Given the description of an element on the screen output the (x, y) to click on. 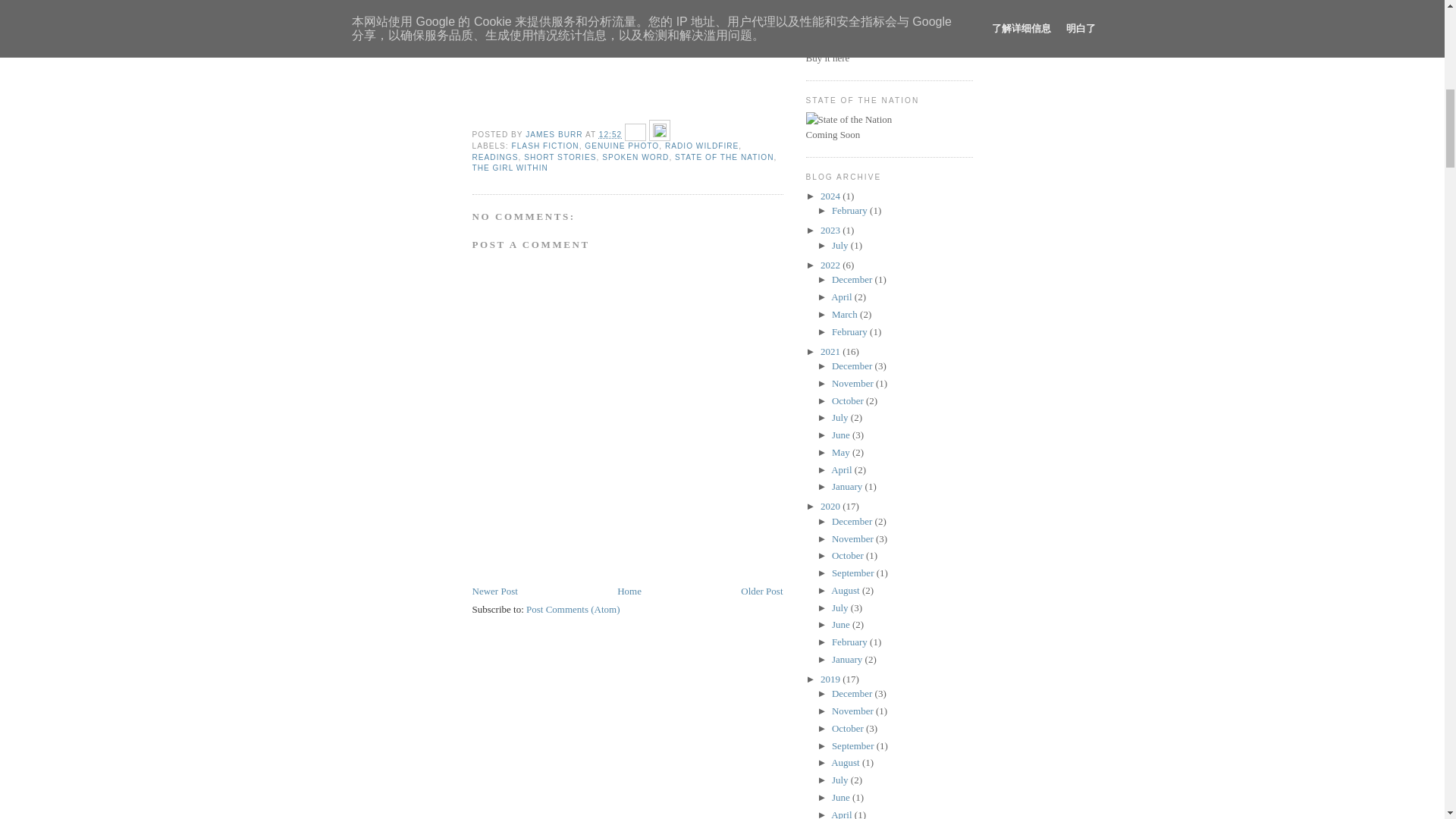
STATE OF THE NATION (724, 157)
SPOKEN WORD (635, 157)
author profile (555, 134)
Email Post (636, 134)
Home (629, 591)
2024 (832, 195)
JAMES BURR (555, 134)
SHORT STORIES (559, 157)
Newer Post (493, 591)
Older Post (762, 591)
permanent link (609, 134)
Newer Post (493, 591)
READINGS (494, 157)
RADIO WILDFIRE (701, 145)
Older Post (762, 591)
